Given the description of an element on the screen output the (x, y) to click on. 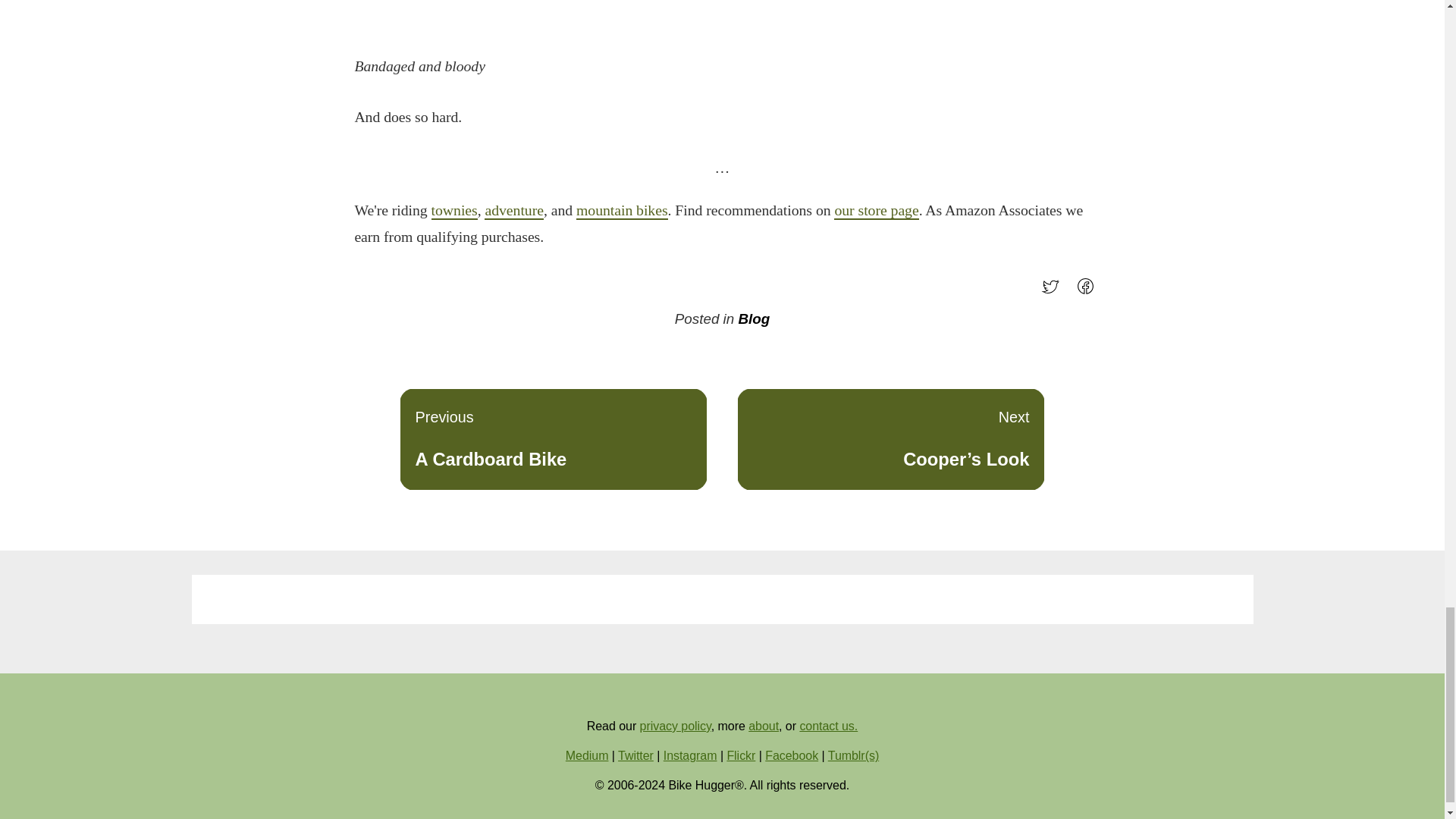
Instagram (690, 755)
about (763, 725)
contact us. (828, 725)
mountain bikes (622, 210)
Tweet (1054, 291)
our store page (876, 210)
Share on Facebook (1089, 291)
Medium (552, 439)
Twitter (587, 755)
